Given the description of an element on the screen output the (x, y) to click on. 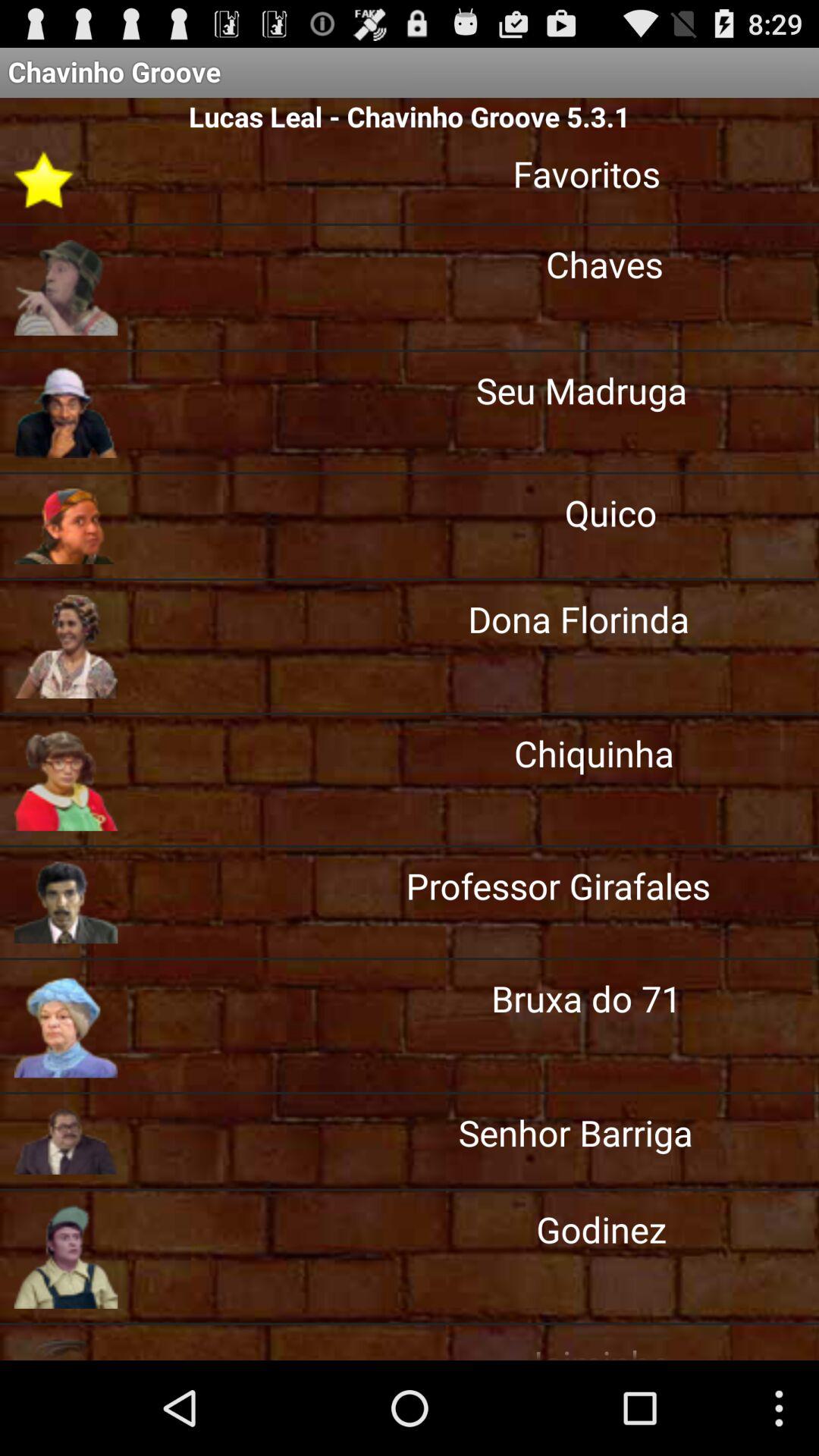
choose fifth image below chavinho groove (65, 646)
select the fifth image from top left of page (65, 779)
click on the image which is to the left side of the senhor barriga (65, 1141)
click on the image which is to the left side of the professor girafales (65, 901)
click on image left to bruxa do 71 (65, 1026)
